Given the description of an element on the screen output the (x, y) to click on. 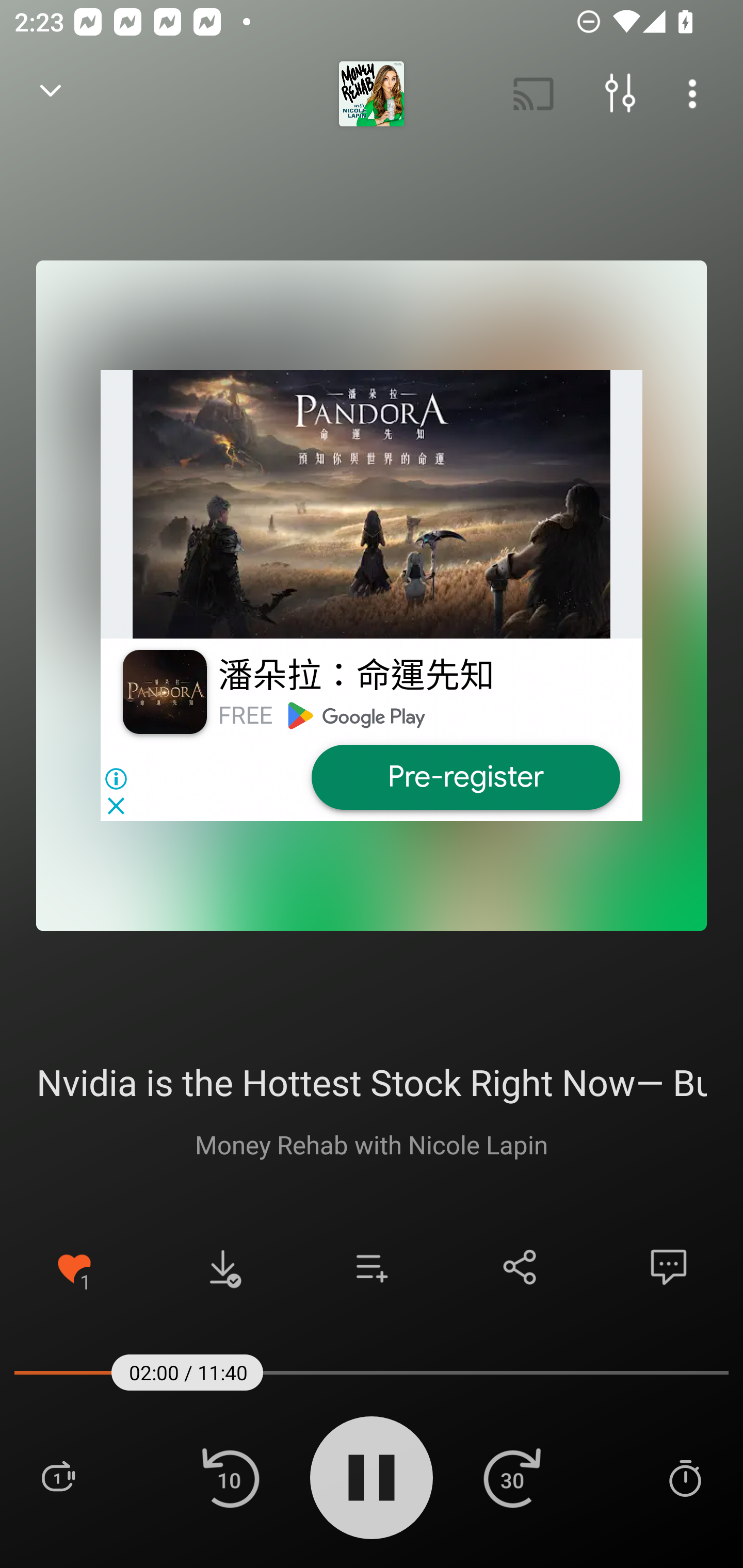
Cast. Disconnected (533, 93)
 Back (50, 94)
潘朵拉：命運先知 (355, 675)
FREE (245, 714)
Pre-register (464, 777)
Money Rehab with Nicole Lapin (371, 1144)
Comments (668, 1266)
Remove from Favorites (73, 1266)
Add to playlist (371, 1266)
Share (519, 1266)
 Playlist (57, 1477)
Sleep Timer  (684, 1477)
